Given the description of an element on the screen output the (x, y) to click on. 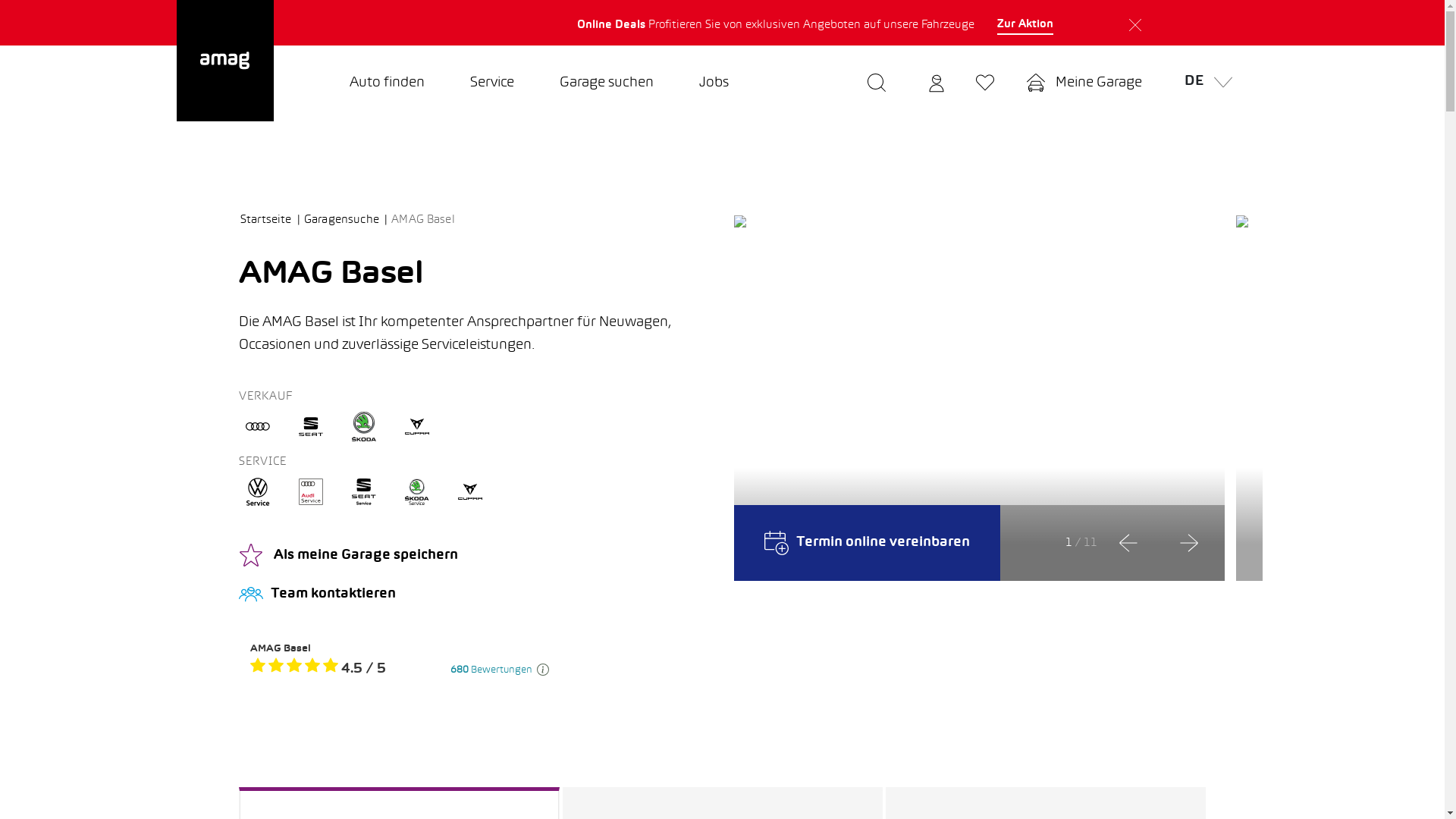
Garagensuche Element type: text (345, 219)
Meine Garage Element type: text (1083, 83)
Startseite Element type: text (270, 219)
Team kontaktieren Element type: text (474, 594)
SCHNELL UND ONLINE Wir kaufen Ihr Auto Element type: text (398, 22)
NR. 1 IN DER SCHWEIZ mit 85 Standorten Element type: text (1053, 22)
Service Element type: text (491, 83)
Termin online vereinbaren Element type: text (867, 542)
Garage suchen Element type: text (606, 83)
Auto finden Element type: text (386, 83)
Jobs Element type: text (713, 83)
Zur Aktion Element type: text (1025, 24)
DE Element type: text (1203, 83)
